Given the description of an element on the screen output the (x, y) to click on. 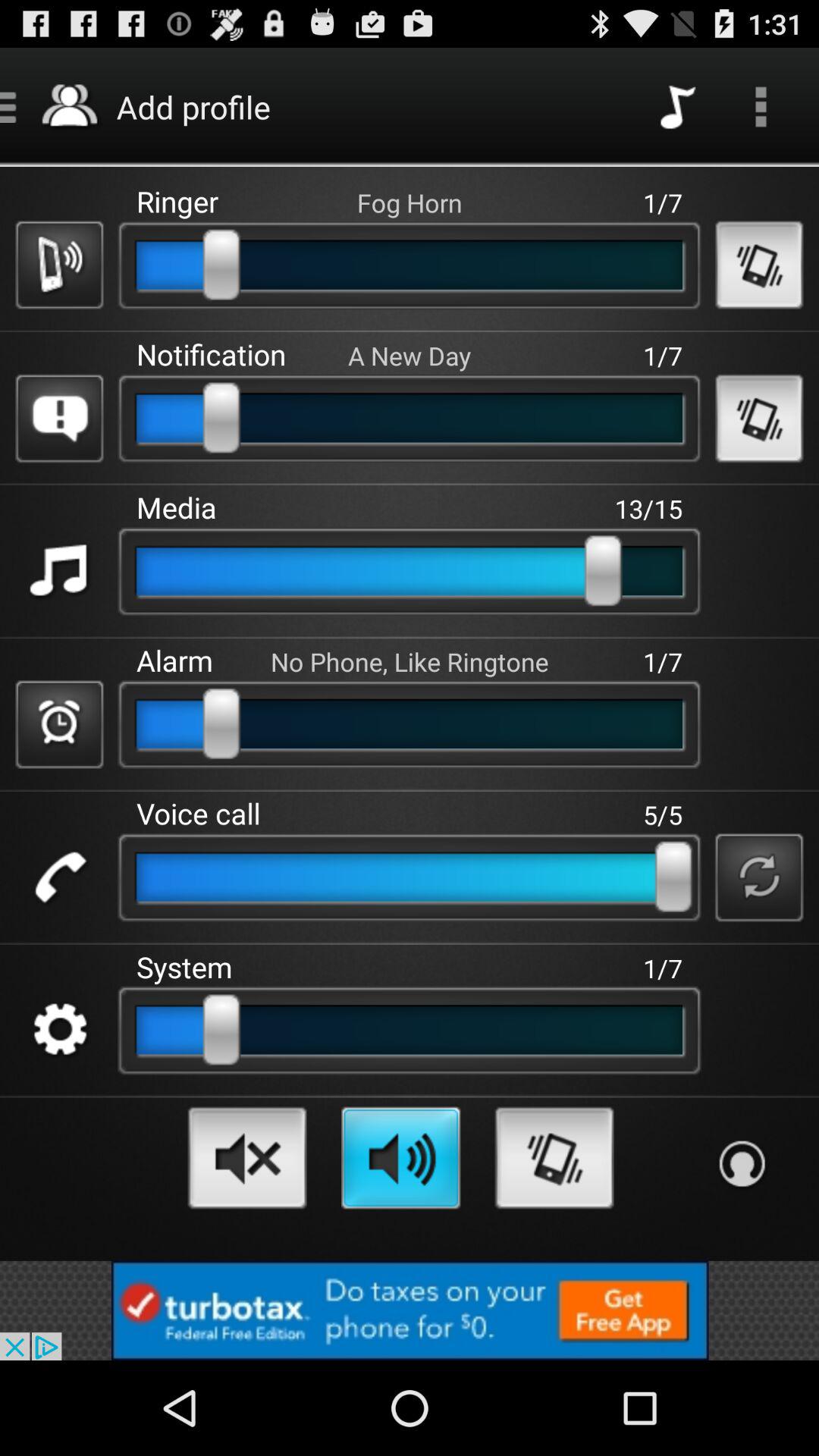
indicate phone calls (59, 877)
